Given the description of an element on the screen output the (x, y) to click on. 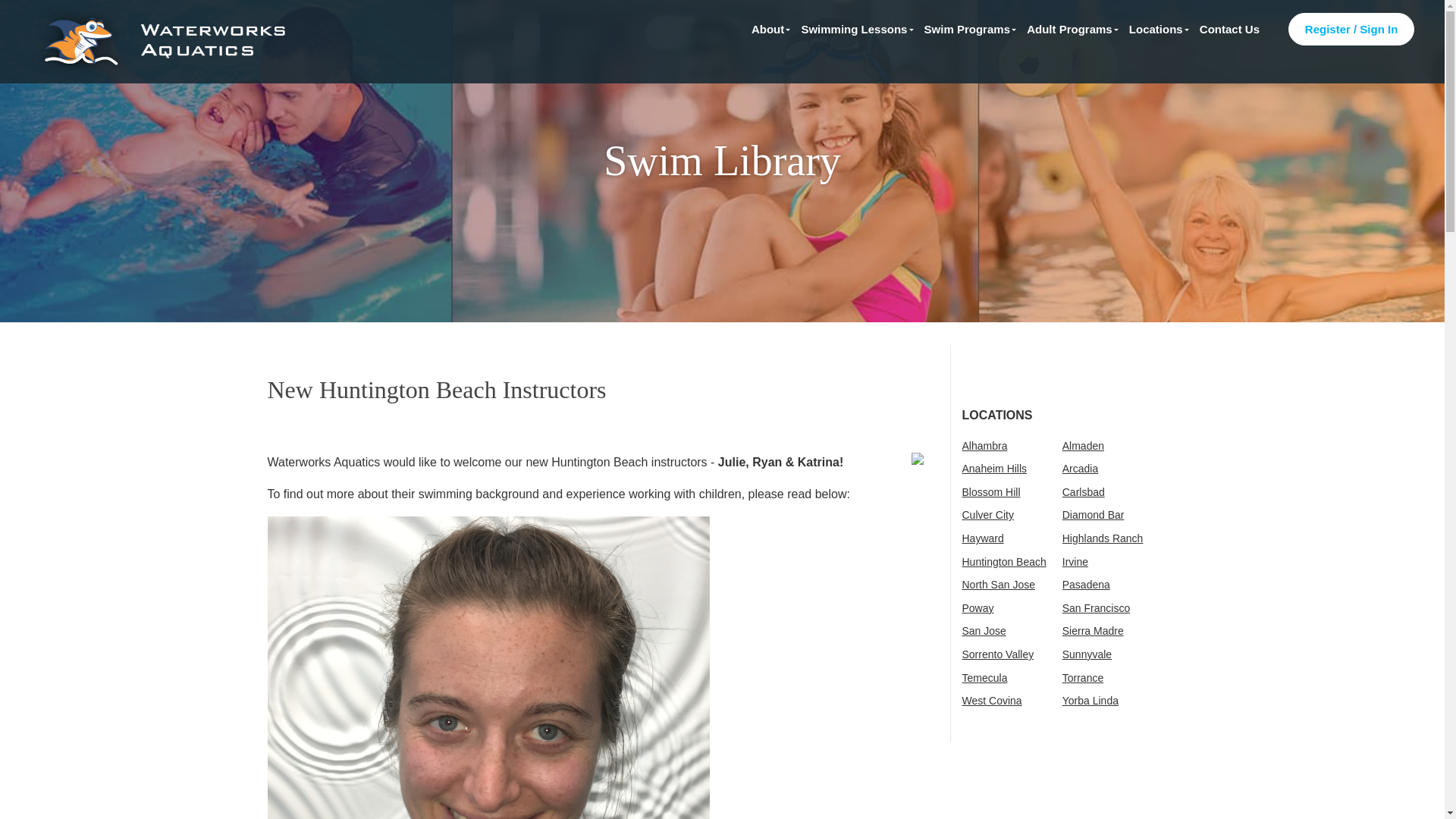
Swimming Lessons (853, 28)
About (767, 28)
Adult Programs (1069, 28)
Locations (1155, 28)
Swim Programs (966, 28)
